Given the description of an element on the screen output the (x, y) to click on. 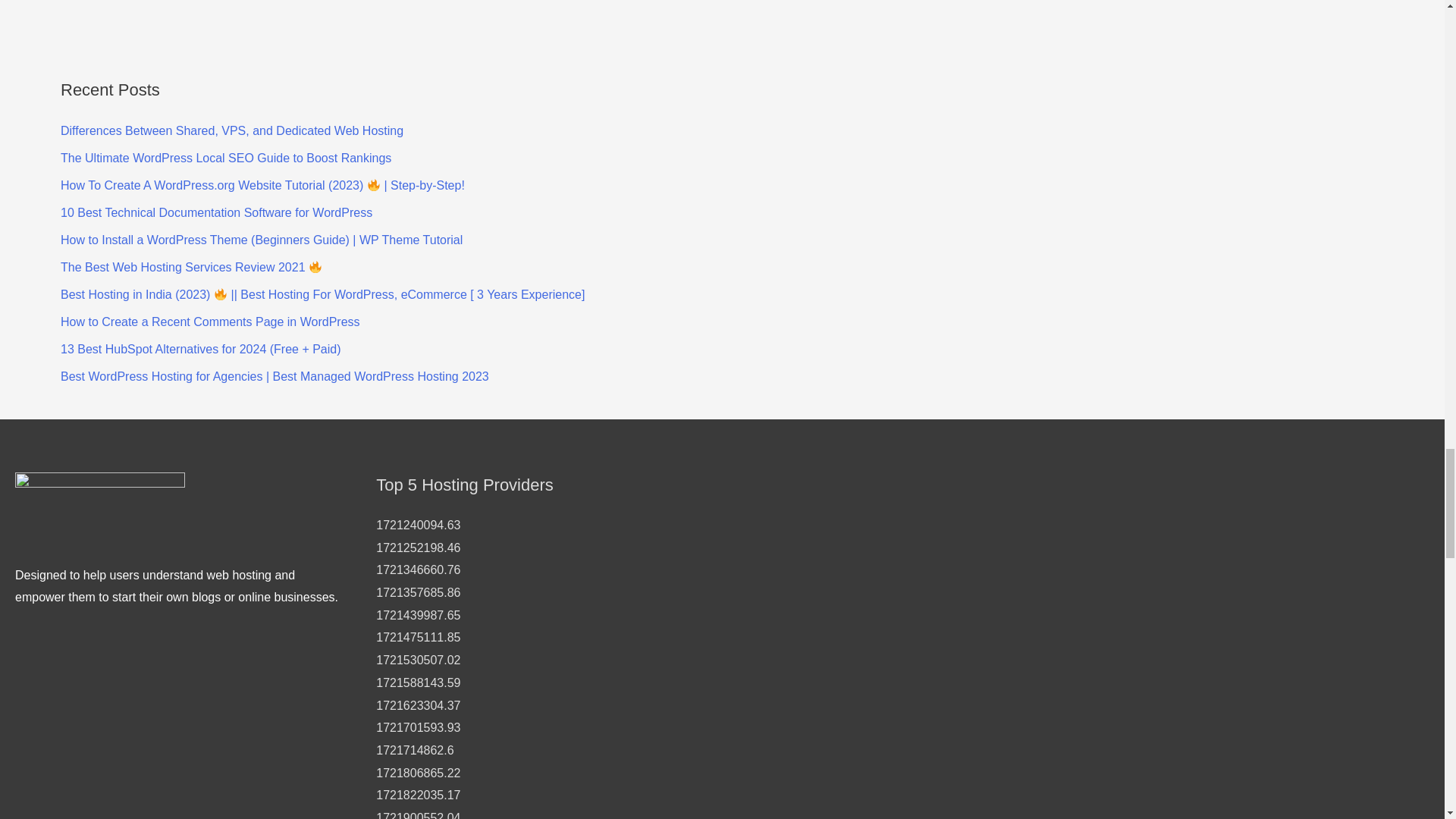
1721346660.76 (417, 569)
10 Best Technical Documentation Software for WordPress (216, 212)
1721357685.86 (417, 592)
1721252198.46 (417, 547)
The Best Web Hosting Services Review 2021 (191, 267)
Differences Between Shared, VPS, and Dedicated Web Hosting (232, 130)
1721240094.63 (417, 524)
How to Create a Recent Comments Page in WordPress (210, 321)
1721439987.65 (417, 615)
The Ultimate WordPress Local SEO Guide to Boost Rankings (226, 157)
